Given the description of an element on the screen output the (x, y) to click on. 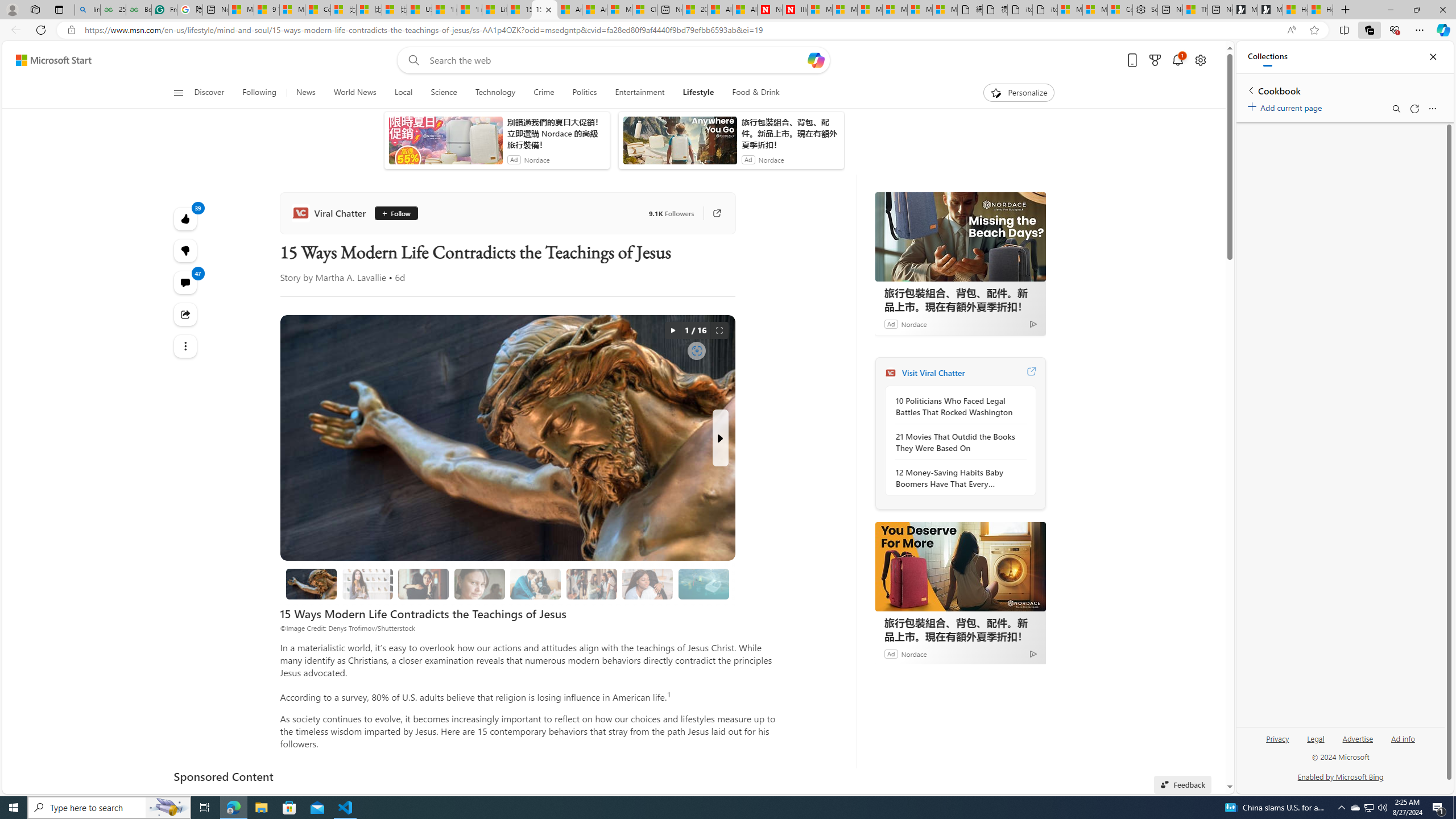
linux basic - Search (86, 9)
Legal (1315, 742)
Refresh (1414, 108)
Microsoft Services Agreement (844, 9)
Free AI Writing Assistance for Students | Grammarly (164, 9)
World News (354, 92)
25 Basic Linux Commands For Beginners - GeeksforGeeks (113, 9)
